Given the description of an element on the screen output the (x, y) to click on. 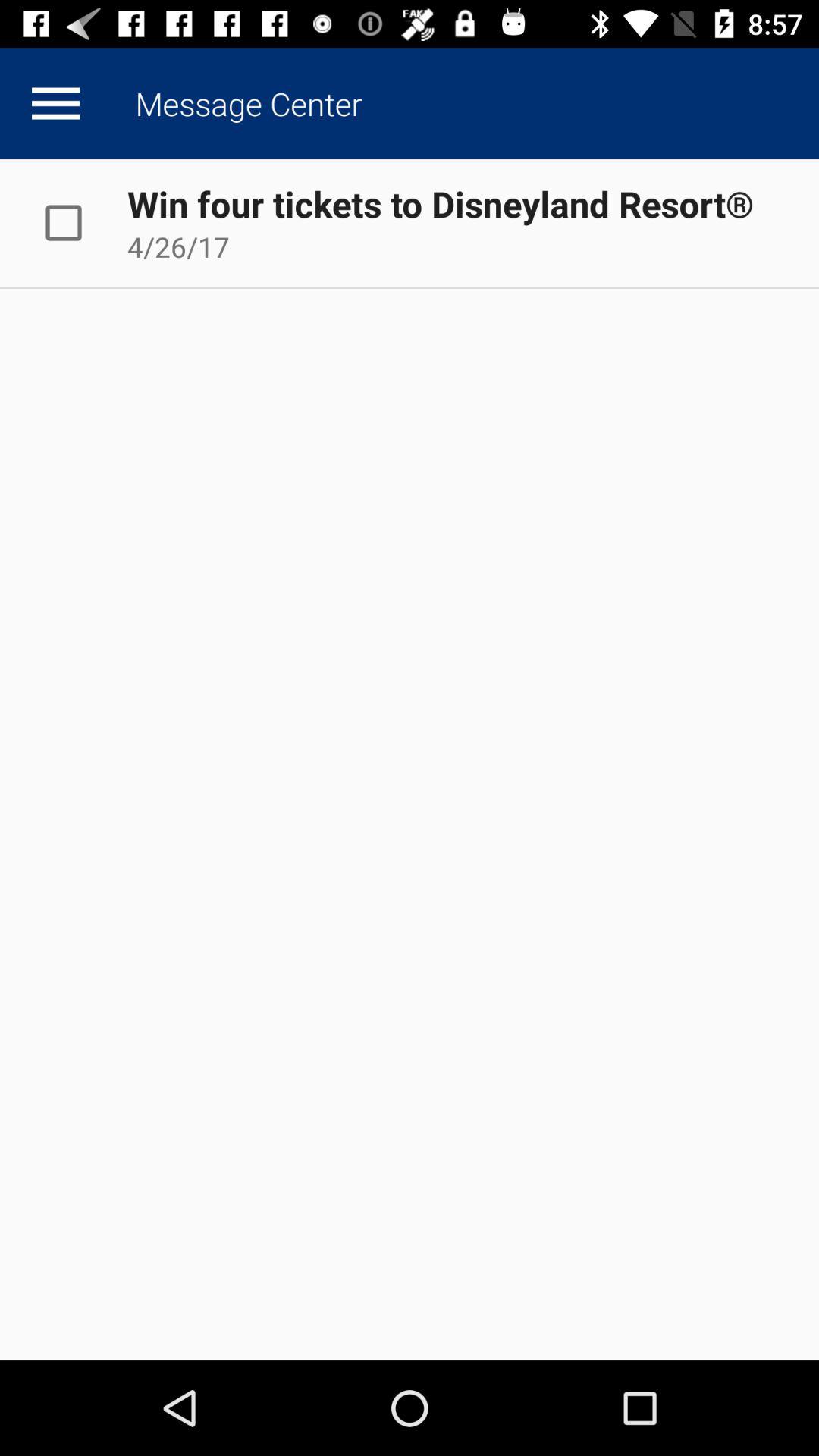
turn on the icon next to message center icon (55, 103)
